Given the description of an element on the screen output the (x, y) to click on. 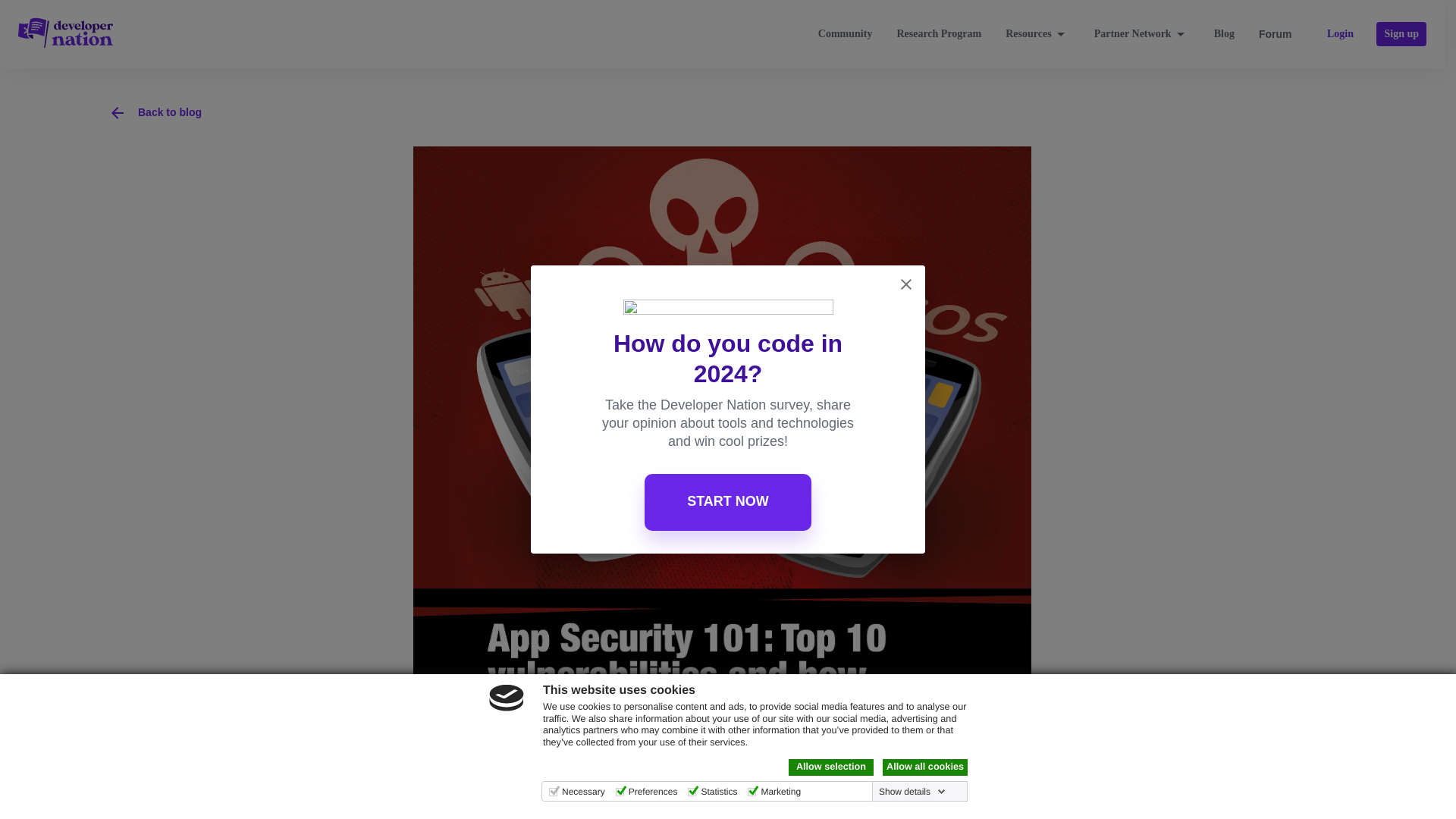
Allow all cookies (925, 767)
Show details (912, 791)
Allow selection (831, 767)
